Given the description of an element on the screen output the (x, y) to click on. 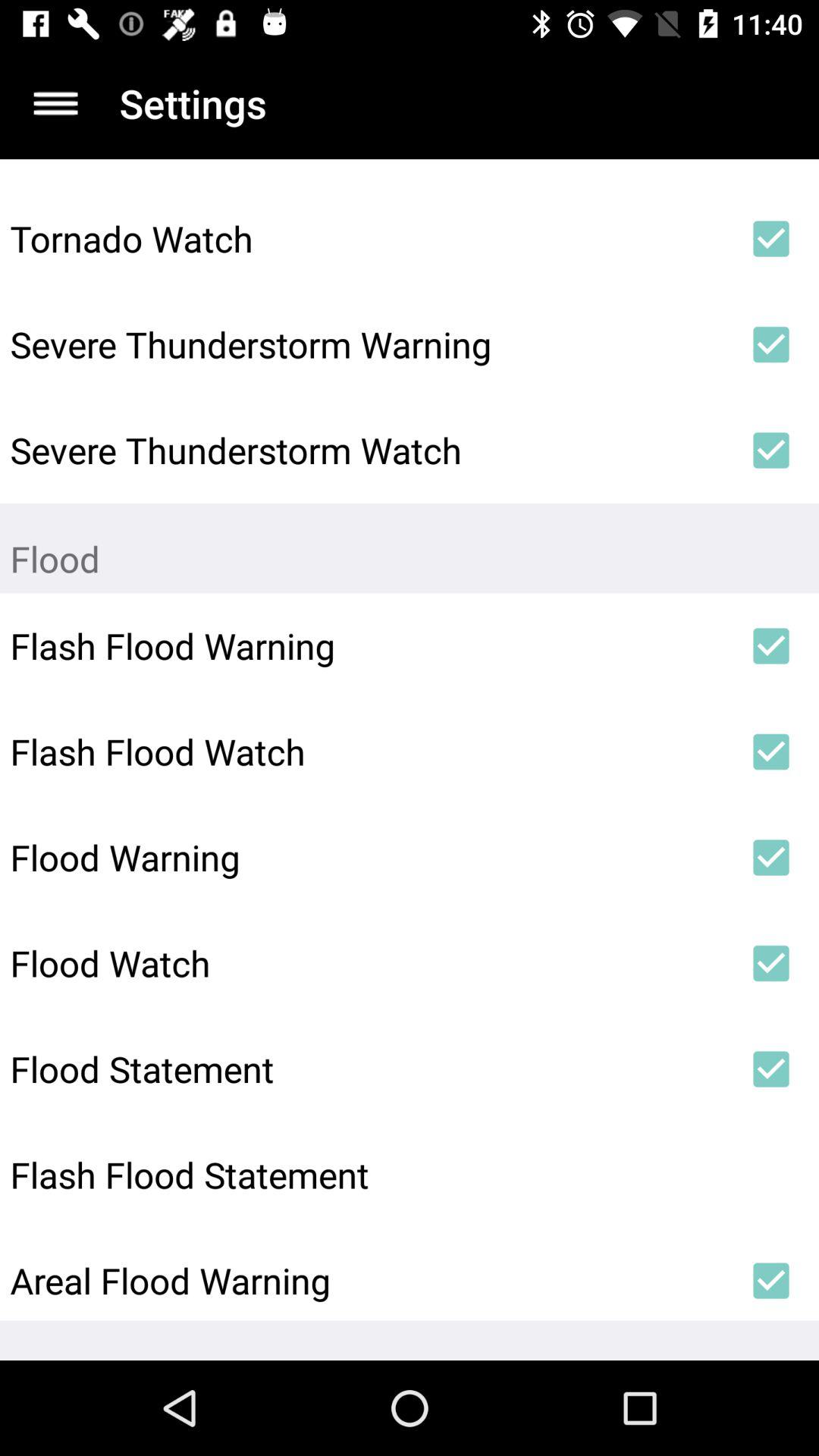
select item to the left of the settings icon (55, 103)
